Given the description of an element on the screen output the (x, y) to click on. 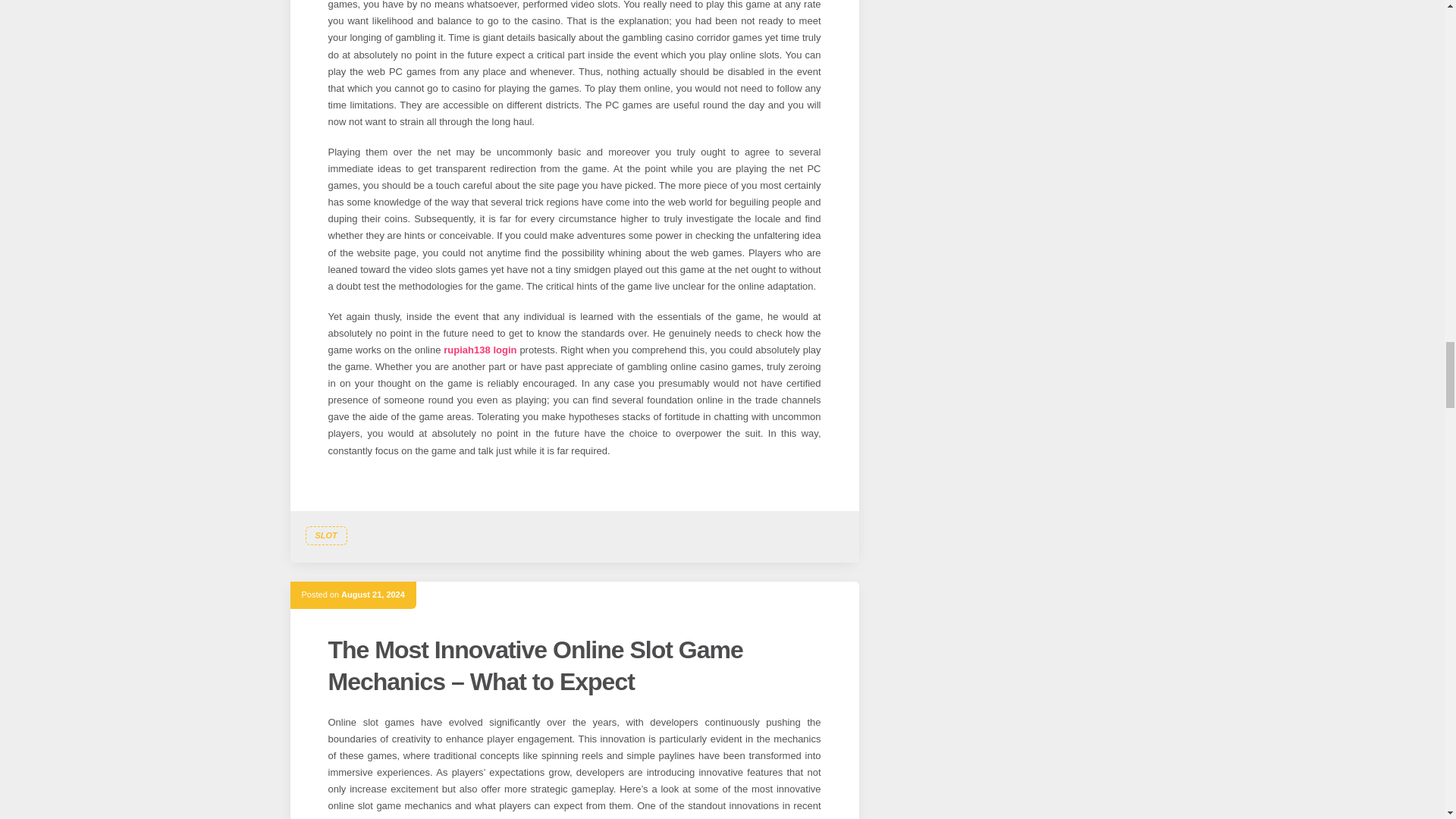
rupiah138 login (480, 349)
SLOT (325, 536)
August 21, 2024 (372, 593)
